Given the description of an element on the screen output the (x, y) to click on. 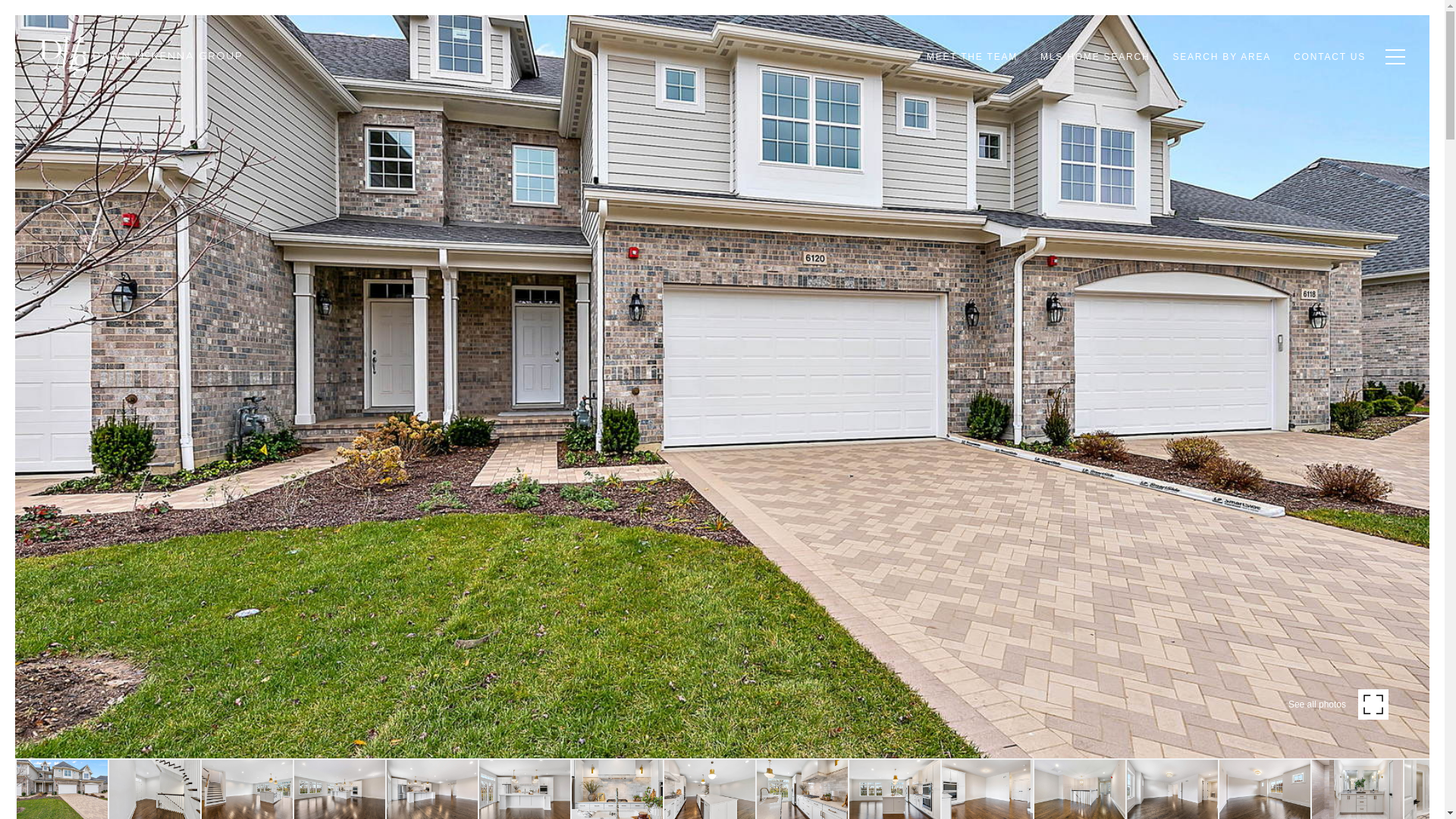
MEET THE TEAM (972, 56)
SEARCH BY AREA (1221, 56)
Toggle navigation (1391, 56)
CONTACT US (1329, 56)
MLS HOME SEARCH (1094, 56)
